Given the description of an element on the screen output the (x, y) to click on. 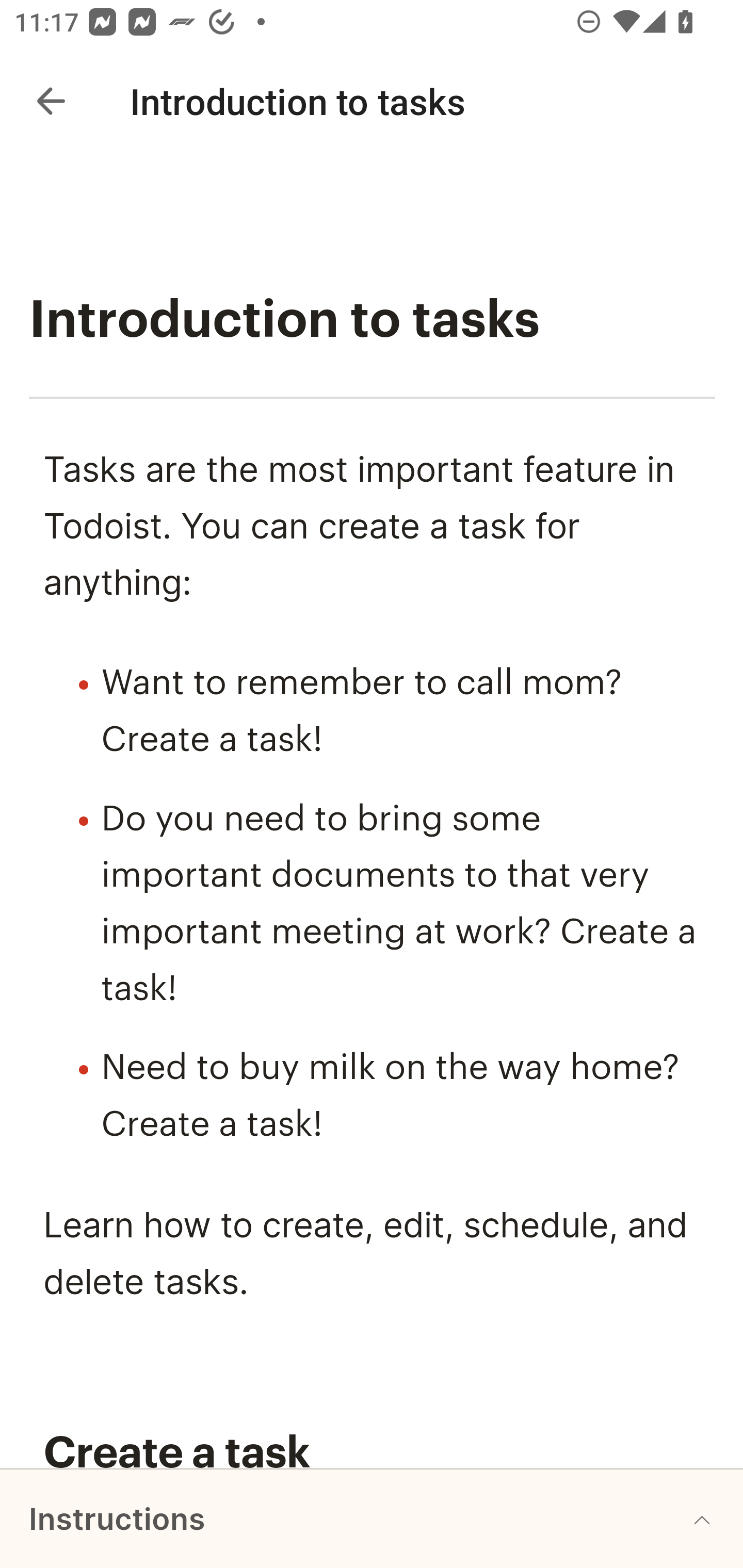
Navigate up (50, 101)
introduction-to-tasks-080OAXric# (372, 1453)
Instructions (371, 1518)
